Given the description of an element on the screen output the (x, y) to click on. 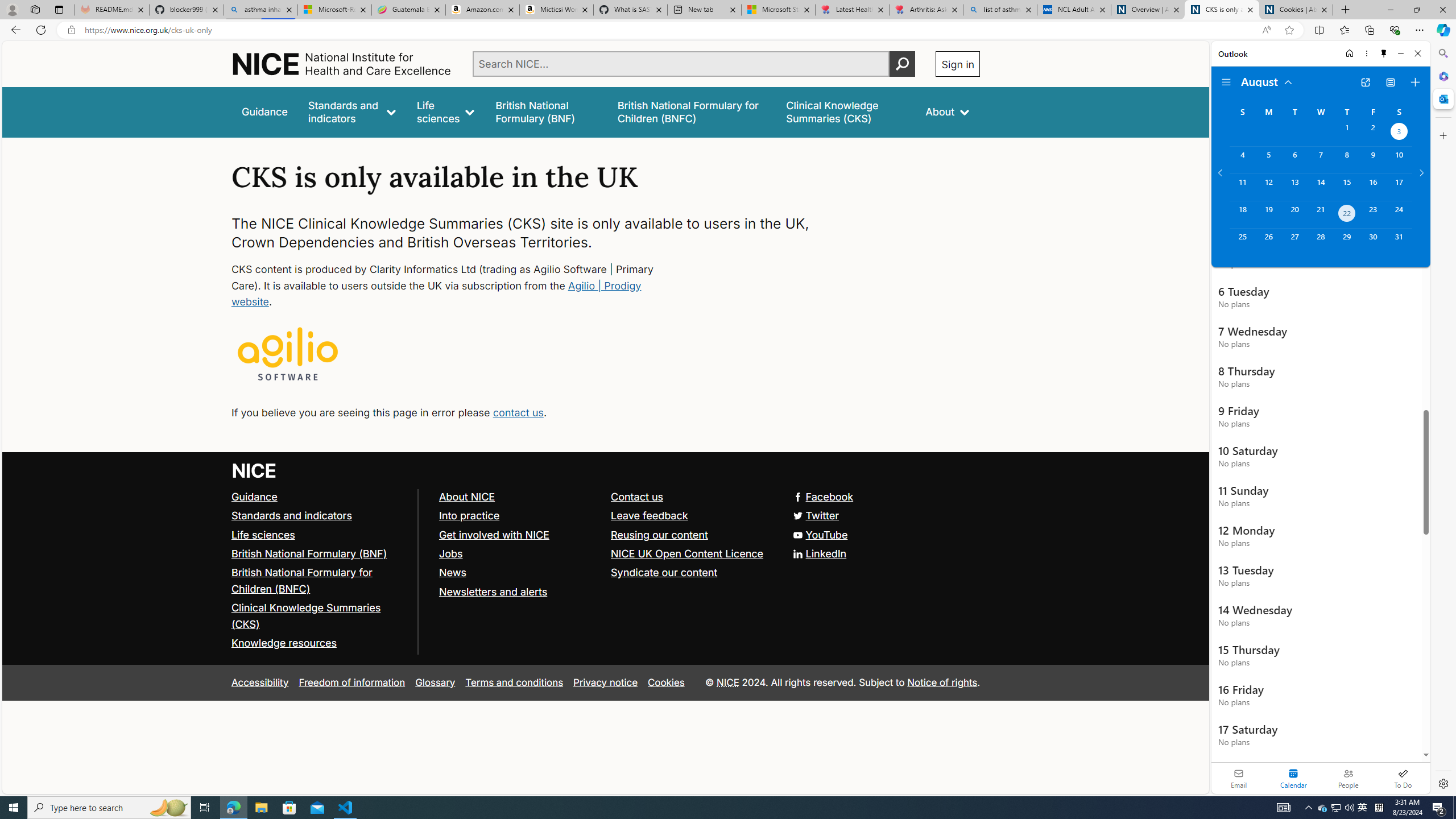
NICE UK Open Content Licence (687, 553)
View Switcher. Current view is Agenda view (1390, 82)
Cookies (665, 682)
August (1267, 80)
